Given the description of an element on the screen output the (x, y) to click on. 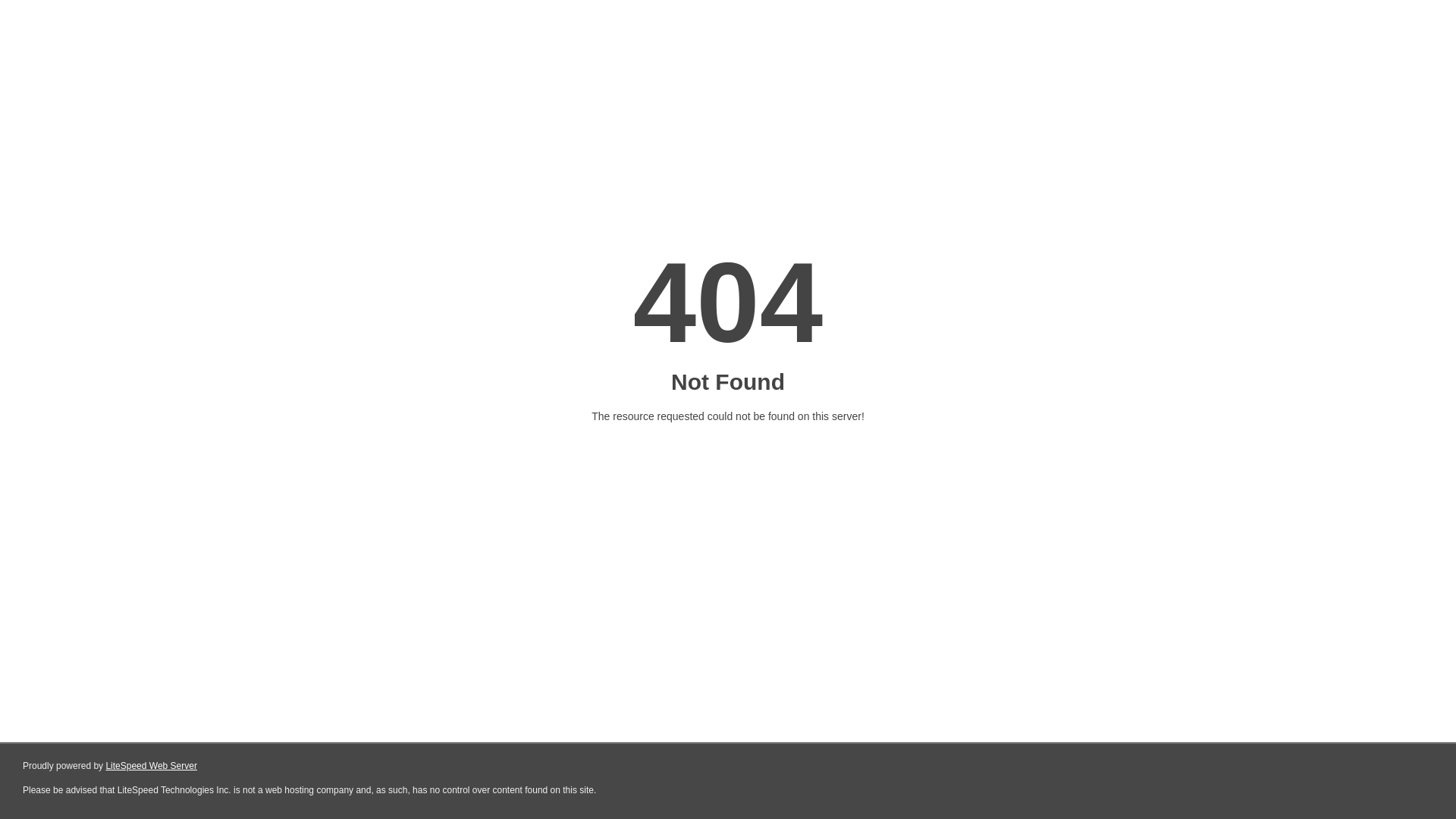
LiteSpeed Web Server Element type: text (151, 765)
